Given the description of an element on the screen output the (x, y) to click on. 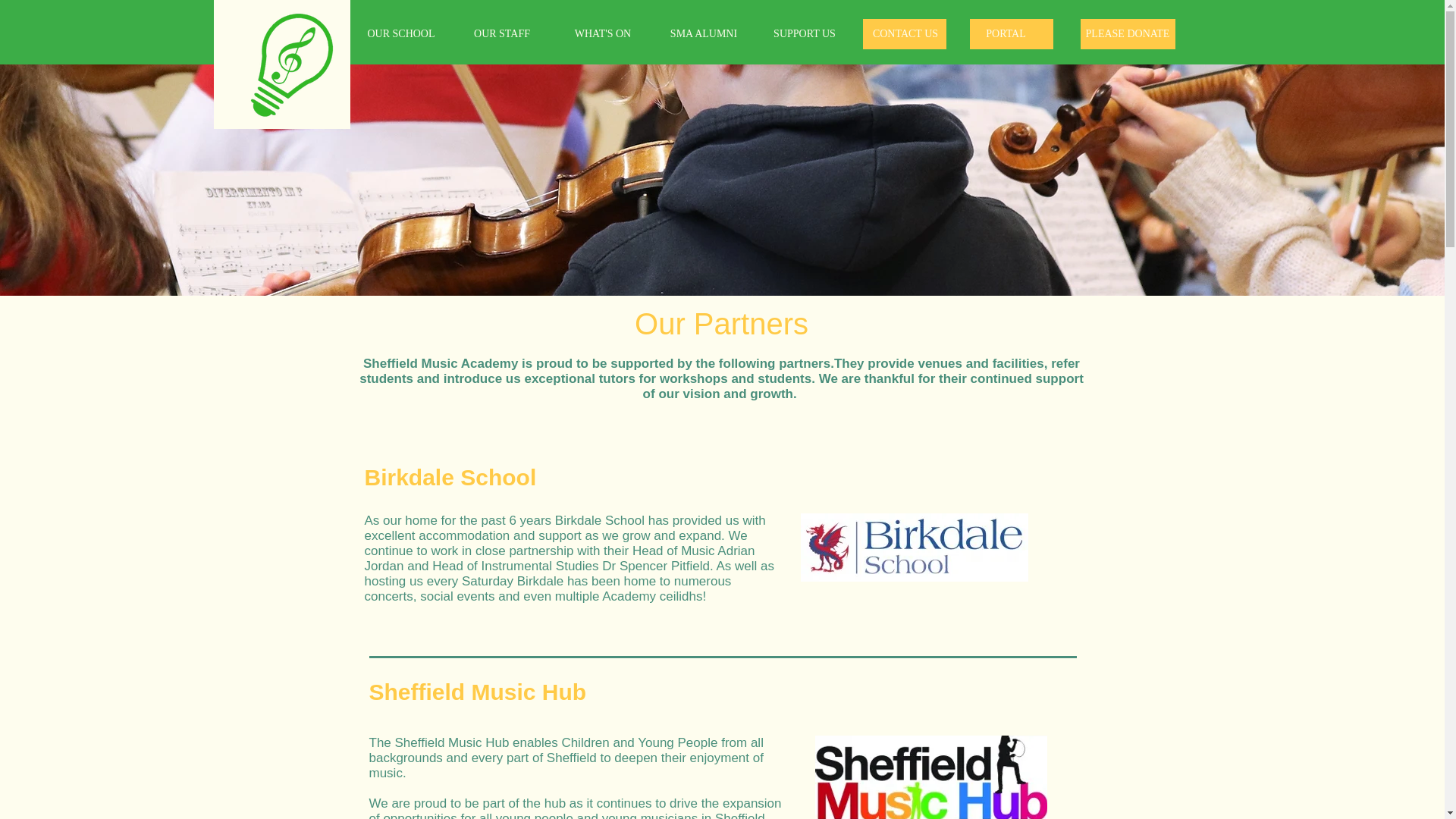
CONTACT US (906, 34)
SMA ALUMNI (703, 34)
PORTAL (1005, 34)
PLEASE DONATE (1127, 33)
